Given the description of an element on the screen output the (x, y) to click on. 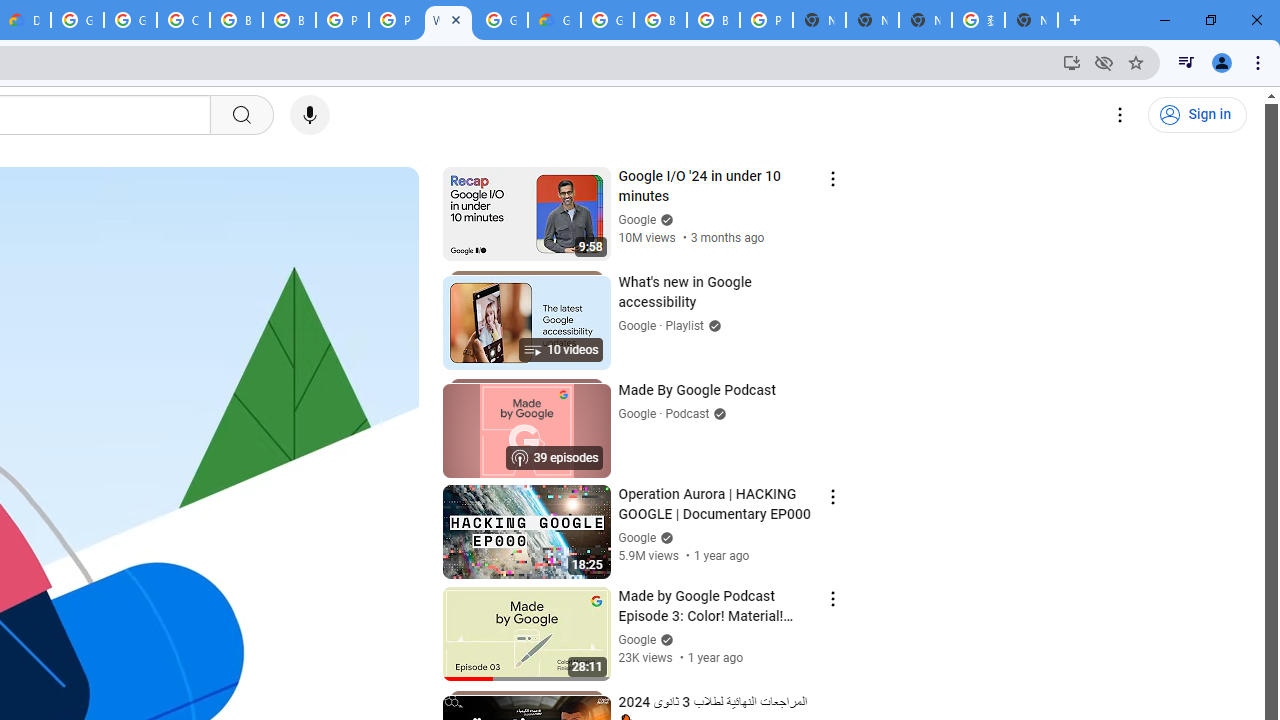
Google Cloud Estimate Summary (554, 20)
Control your music, videos, and more (1185, 62)
Browse Chrome as a guest - Computer - Google Chrome Help (235, 20)
Google Cloud Platform (77, 20)
Browse Chrome as a guest - Computer - Google Chrome Help (713, 20)
Settings (1119, 115)
Search with your voice (309, 115)
New Tab (819, 20)
Action menu (832, 598)
Browse Chrome as a guest - Computer - Google Chrome Help (660, 20)
